Given the description of an element on the screen output the (x, y) to click on. 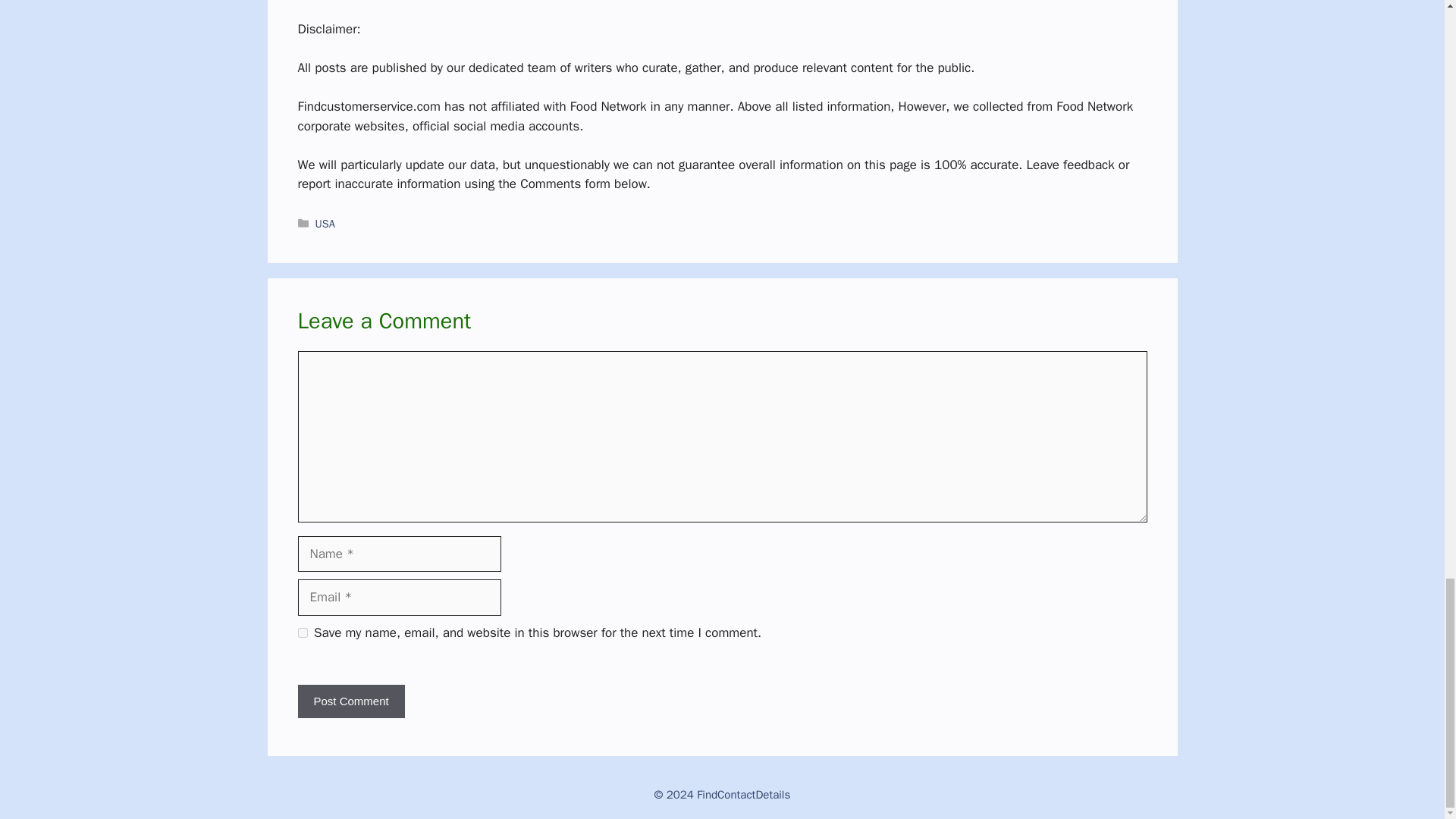
USA (324, 223)
Post Comment (350, 701)
Post Comment (350, 701)
yes (302, 633)
